Given the description of an element on the screen output the (x, y) to click on. 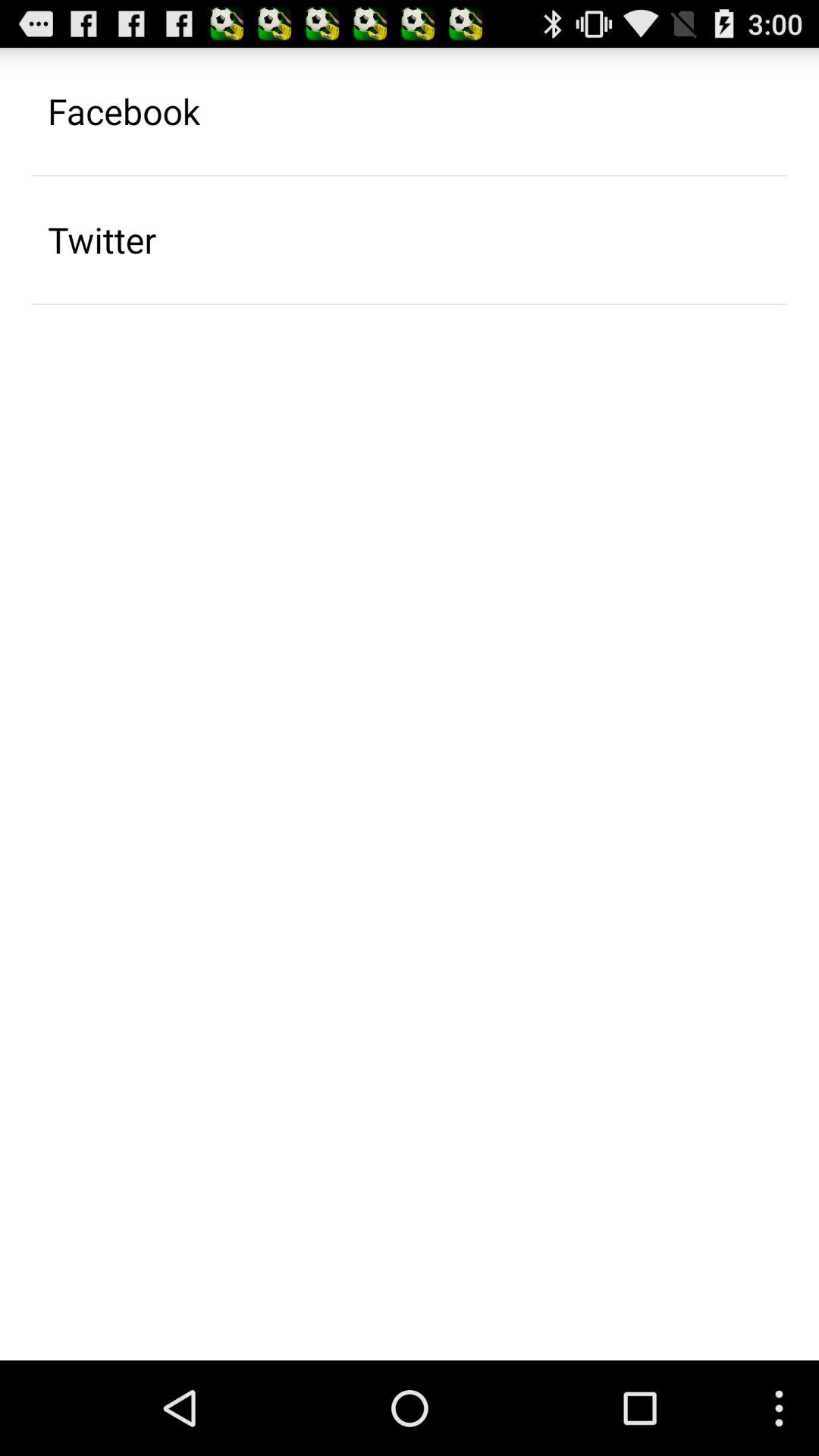
choose facebook (123, 111)
